Given the description of an element on the screen output the (x, y) to click on. 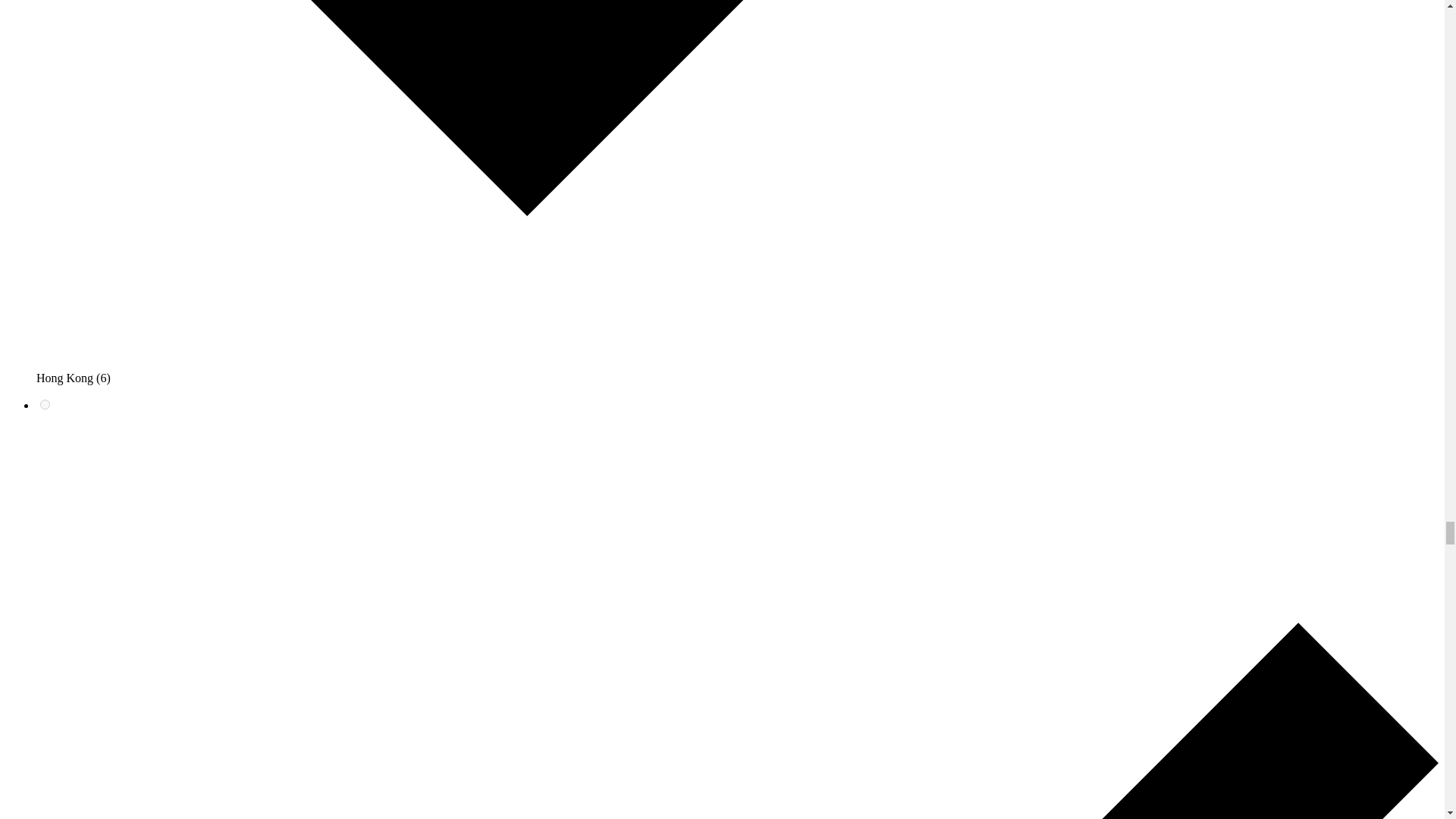
Great Britain (44, 404)
